Given the description of an element on the screen output the (x, y) to click on. 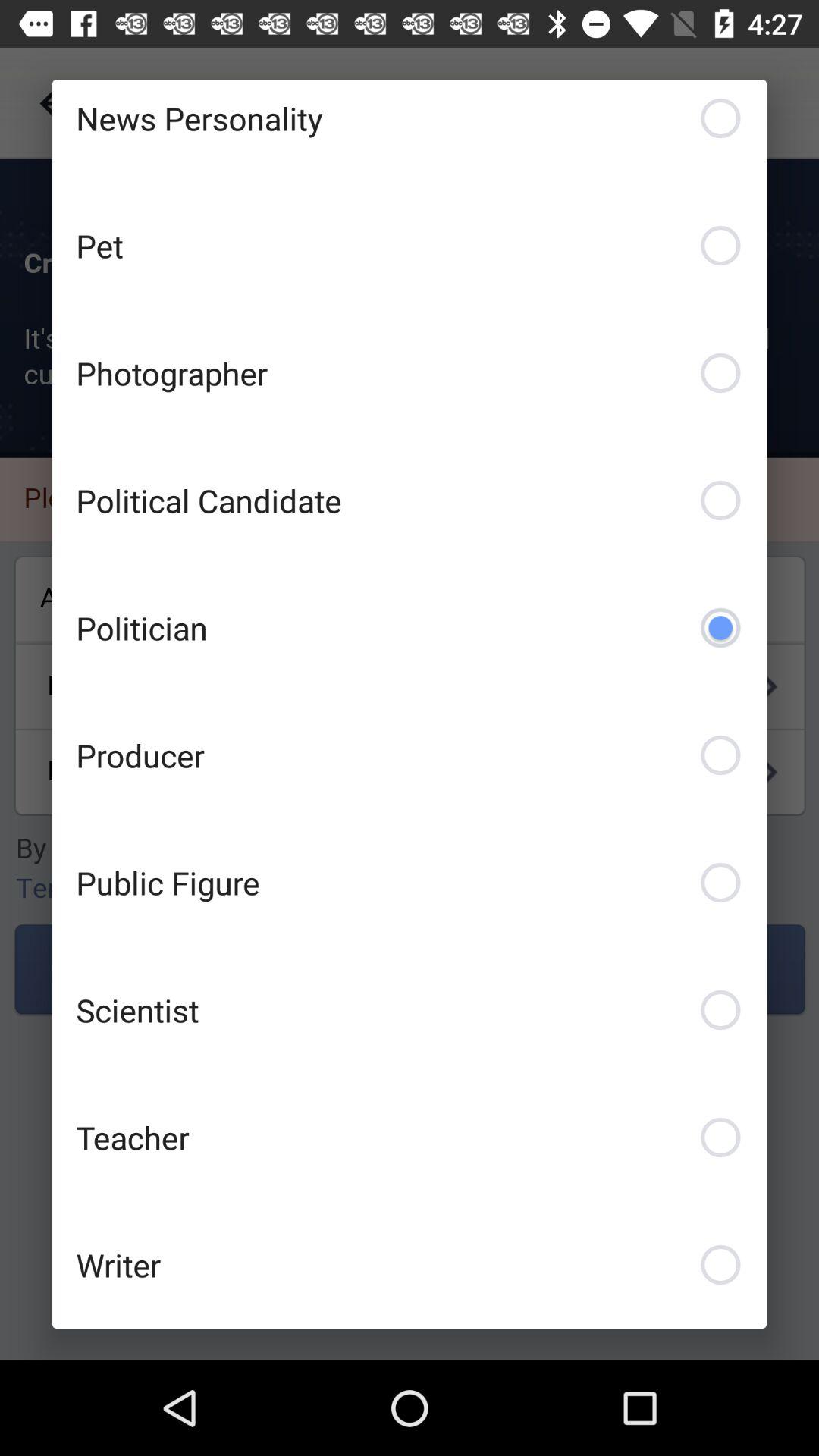
press news personality icon (409, 130)
